Given the description of an element on the screen output the (x, y) to click on. 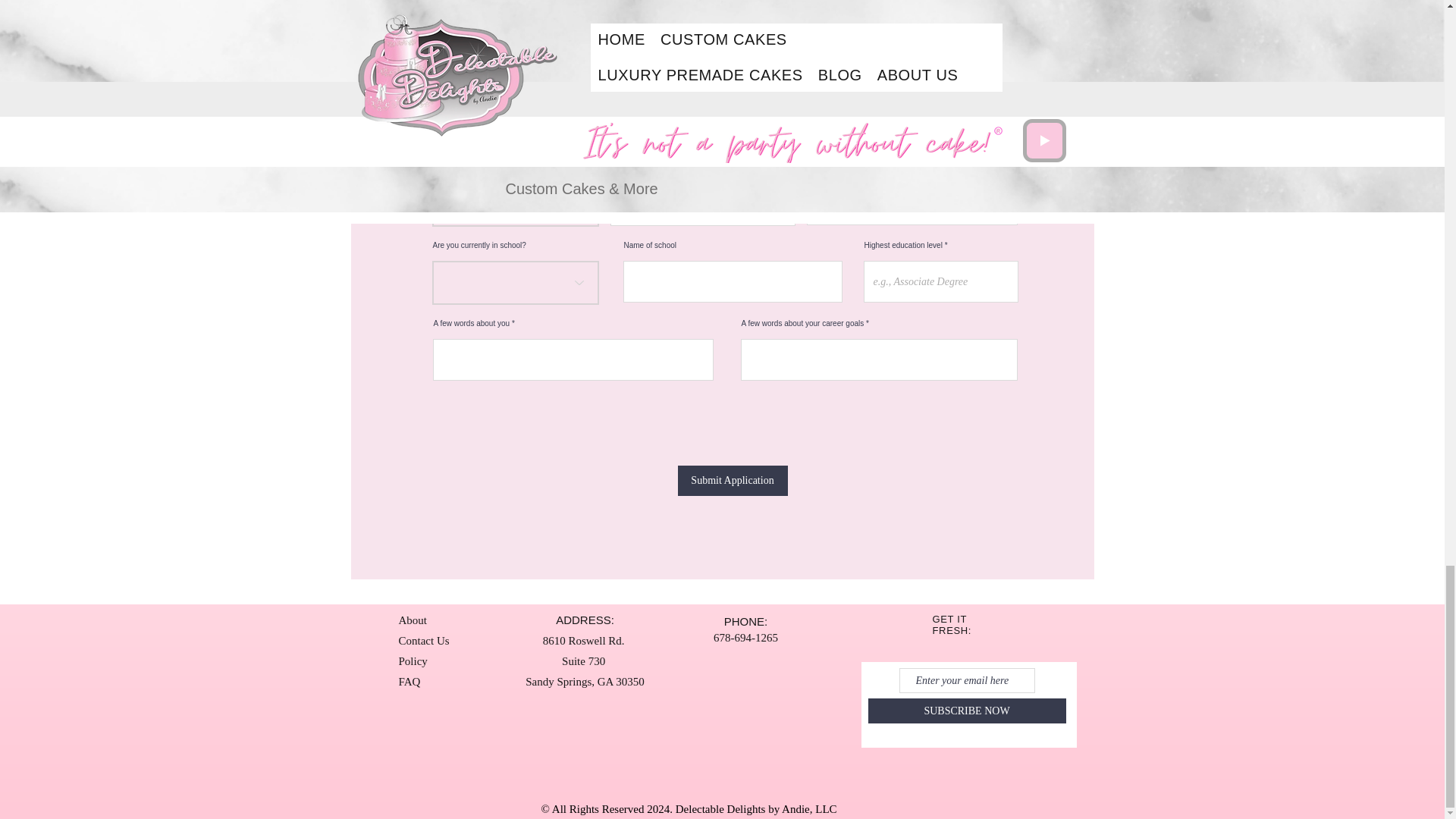
Contact Us (423, 640)
About (413, 620)
678-694-1265 (745, 637)
FAQ (409, 681)
Policy (413, 661)
SUBSCRIBE NOW (966, 710)
Submit Application (732, 481)
